Given the description of an element on the screen output the (x, y) to click on. 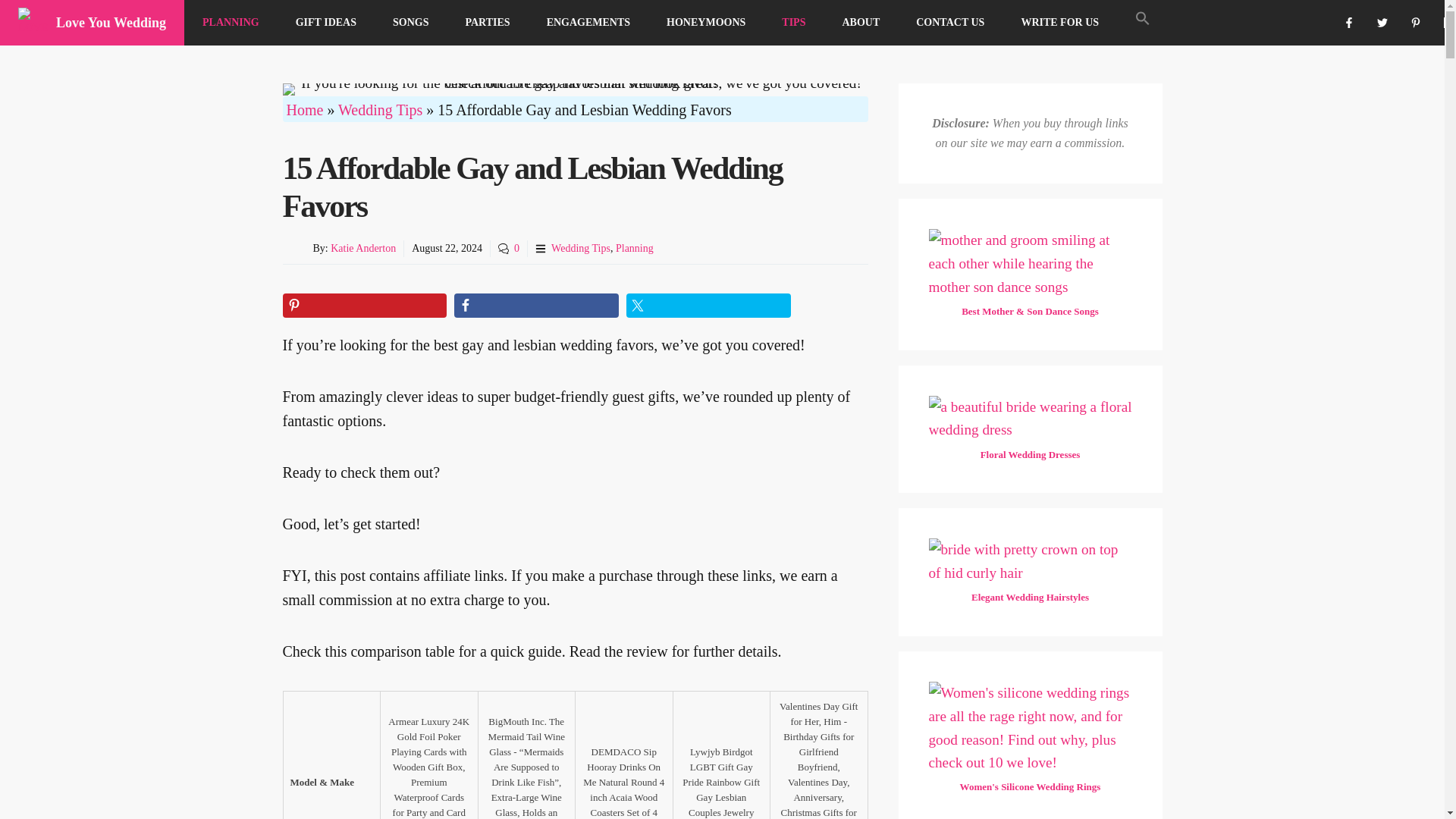
Katie Anderton (363, 247)
GIFT IDEAS (326, 22)
Wedding Tips (379, 109)
PLANNING (231, 22)
PARTIES (486, 22)
Wedding Songs (410, 22)
WRITE FOR US (1059, 22)
Share on Pinterest (364, 305)
SONGS (410, 22)
CONTACT US (950, 22)
